Given the description of an element on the screen output the (x, y) to click on. 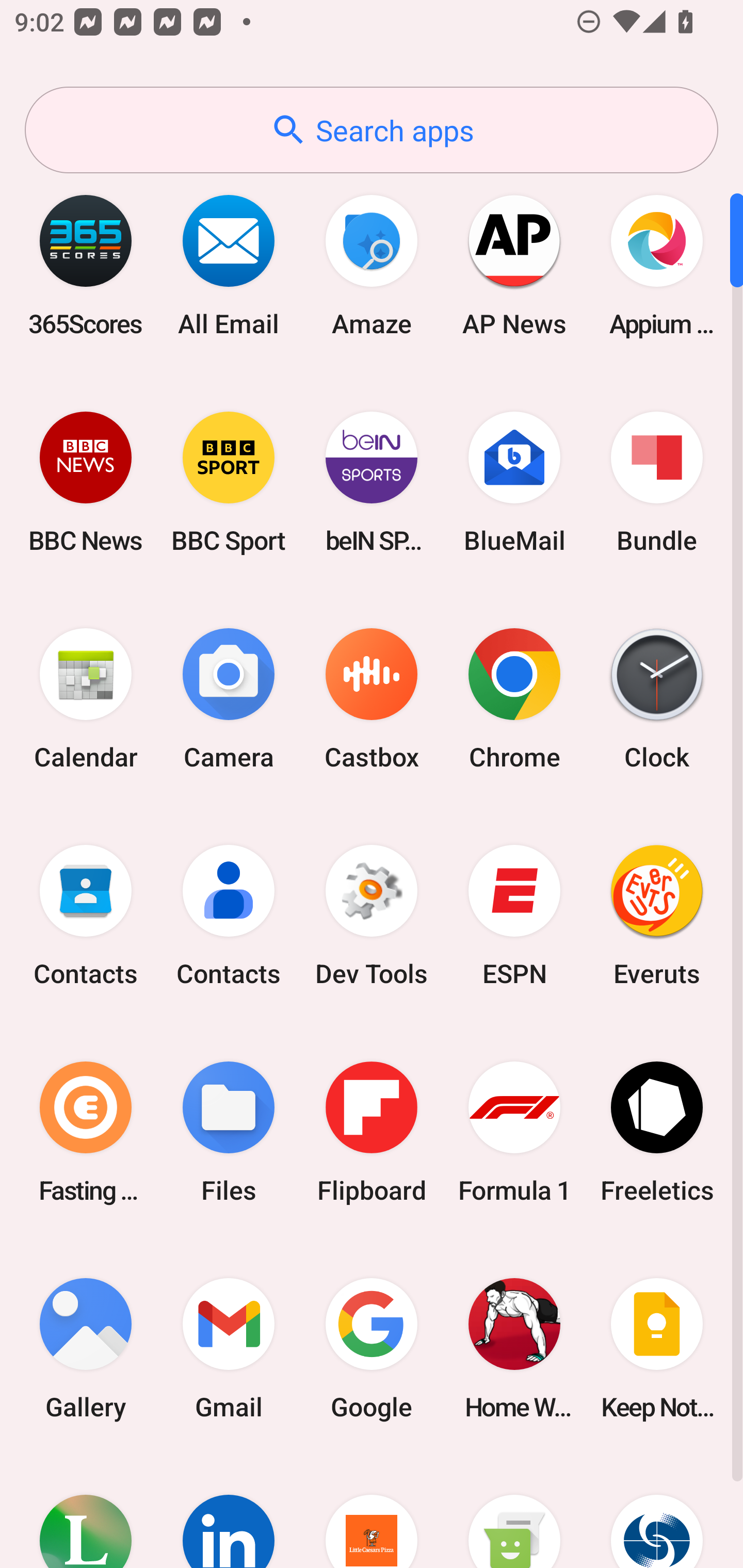
  Search apps (371, 130)
365Scores (85, 264)
All Email (228, 264)
Amaze (371, 264)
AP News (514, 264)
Appium Settings (656, 264)
BBC News (85, 482)
BBC Sport (228, 482)
beIN SPORTS (371, 482)
BlueMail (514, 482)
Bundle (656, 482)
Calendar (85, 699)
Camera (228, 699)
Castbox (371, 699)
Chrome (514, 699)
Clock (656, 699)
Contacts (85, 915)
Contacts (228, 915)
Dev Tools (371, 915)
ESPN (514, 915)
Everuts (656, 915)
Fasting Coach (85, 1131)
Files (228, 1131)
Flipboard (371, 1131)
Formula 1 (514, 1131)
Freeletics (656, 1131)
Gallery (85, 1348)
Gmail (228, 1348)
Google (371, 1348)
Home Workout (514, 1348)
Keep Notes (656, 1348)
